Given the description of an element on the screen output the (x, y) to click on. 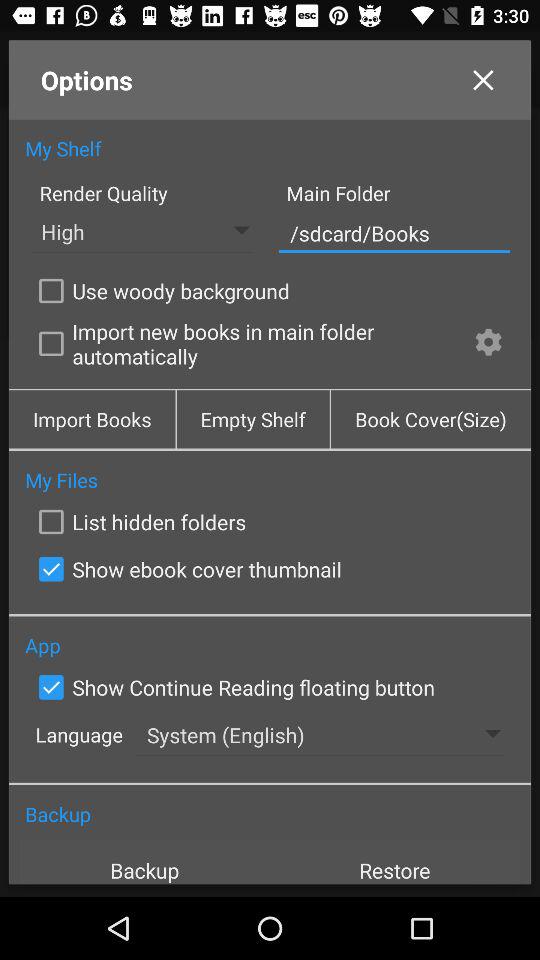
press icon to the right of import new books item (488, 344)
